Given the description of an element on the screen output the (x, y) to click on. 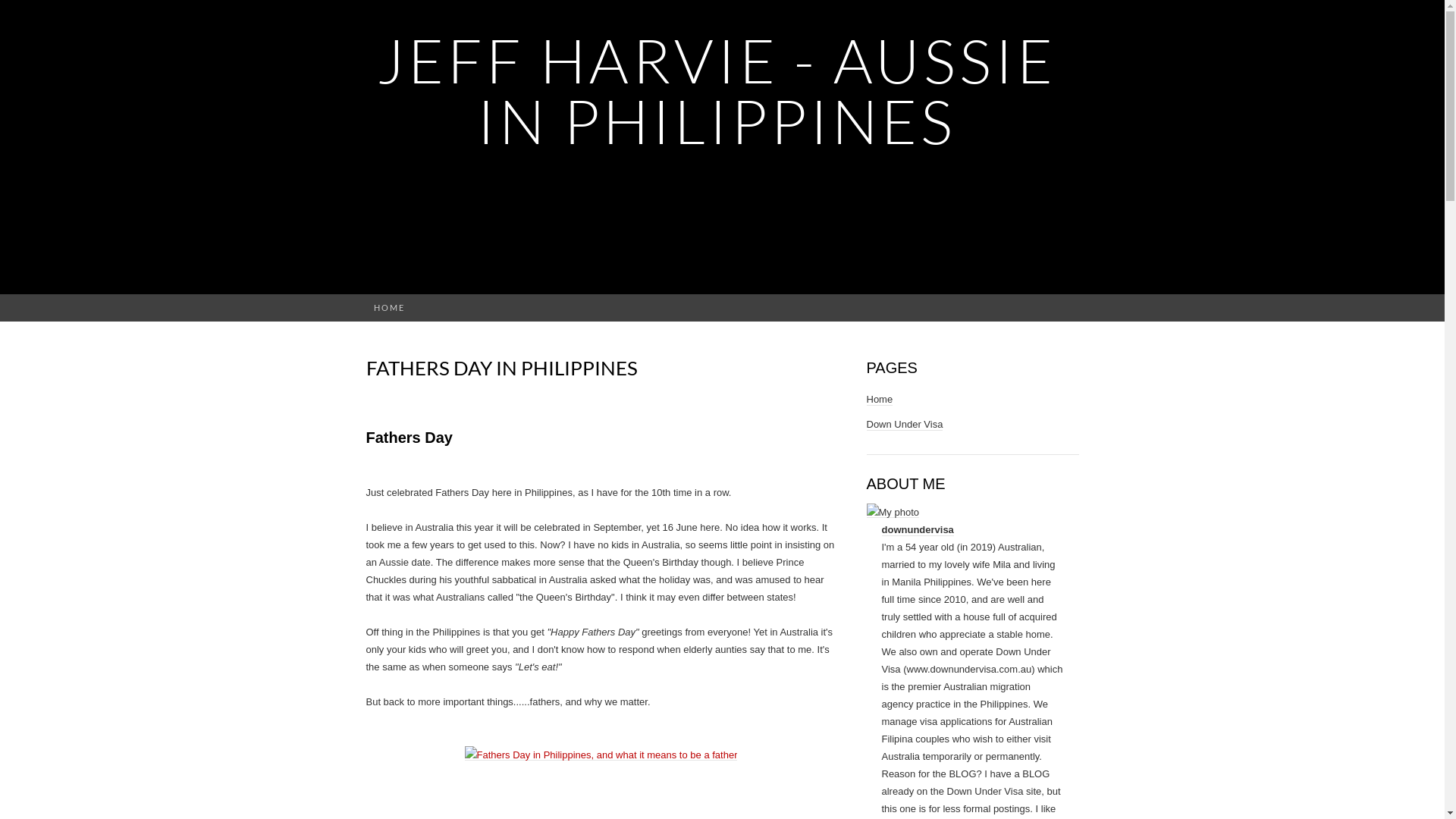
downundervisa Element type: text (917, 530)
Search Element type: text (15, 12)
FATHERS DAY IN PHILIPPINES Element type: text (501, 367)
JEFF HARVIE - AUSSIE IN PHILIPPINES Element type: text (716, 90)
Down Under Visa Element type: text (904, 424)
Search for: Element type: hover (1069, 307)
Home Element type: text (879, 399)
HOME Element type: text (388, 307)
